Given the description of an element on the screen output the (x, y) to click on. 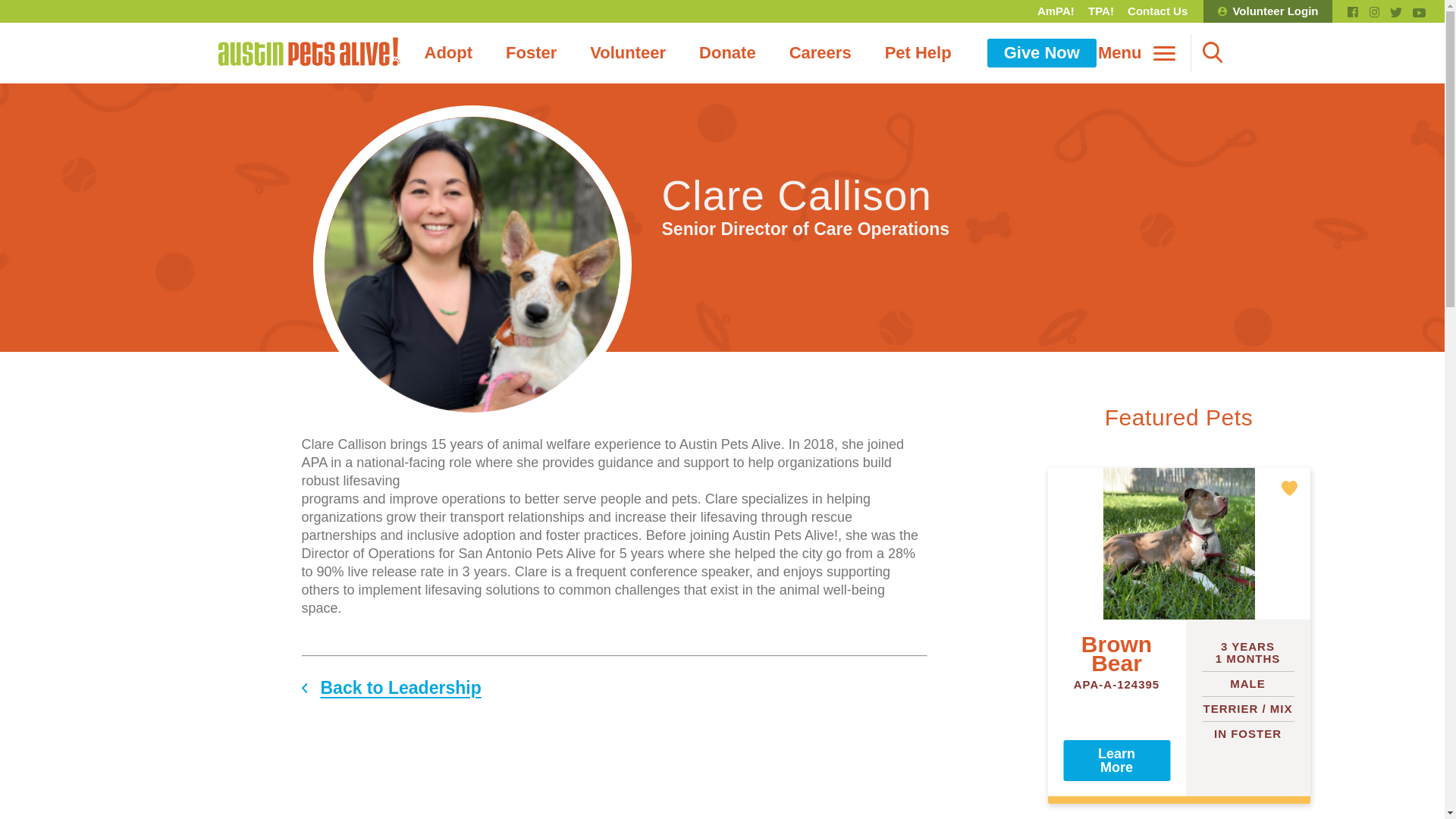
Contact Us (1157, 11)
Foster (531, 52)
Volunteer (627, 52)
Donate (727, 52)
Adopt (448, 52)
TPA! (1101, 11)
Careers (820, 52)
Pet Help (917, 52)
Volunteer Login (1268, 11)
AmPA! (1056, 11)
